Given the description of an element on the screen output the (x, y) to click on. 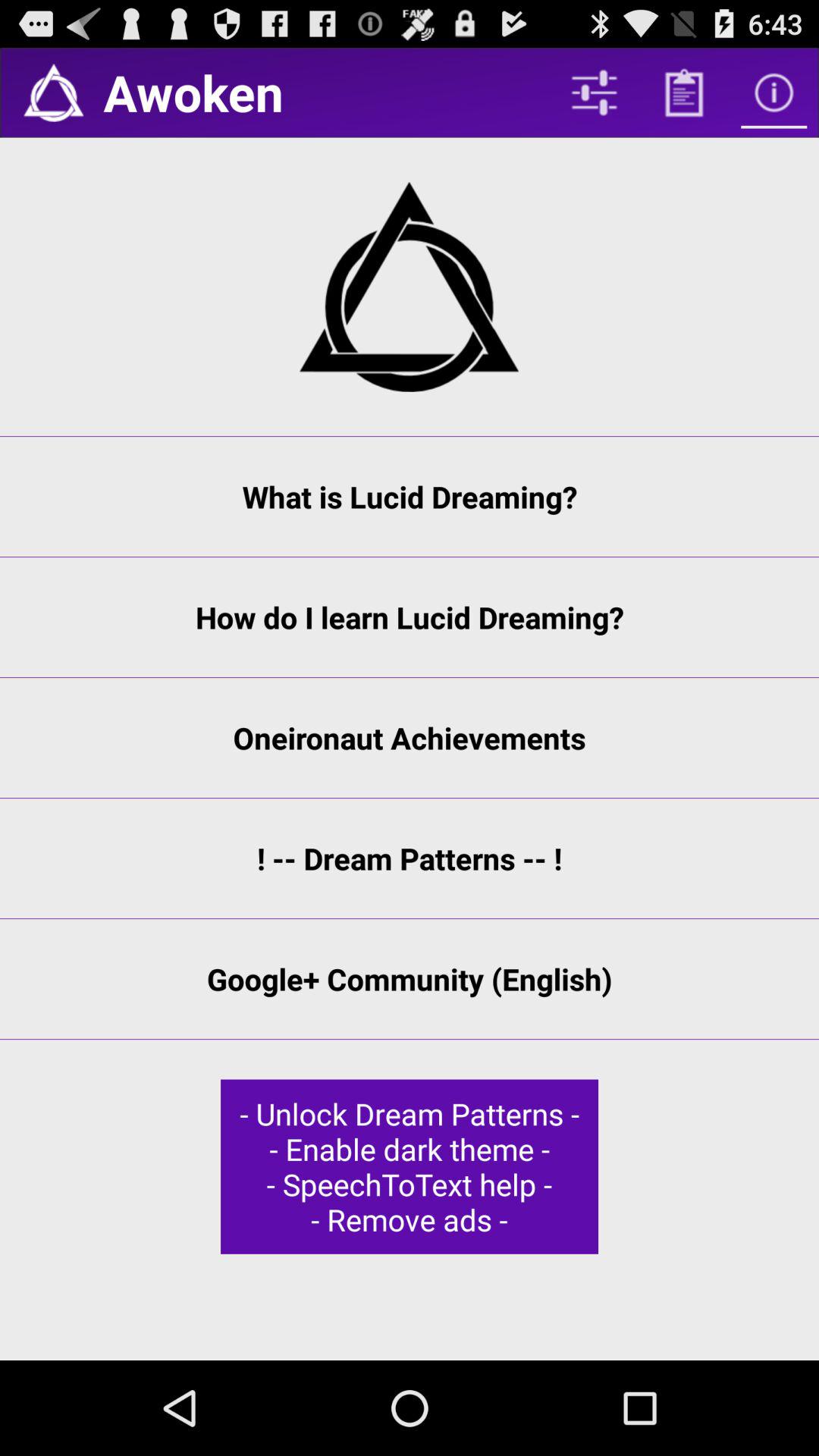
choose the how do i item (409, 617)
